Given the description of an element on the screen output the (x, y) to click on. 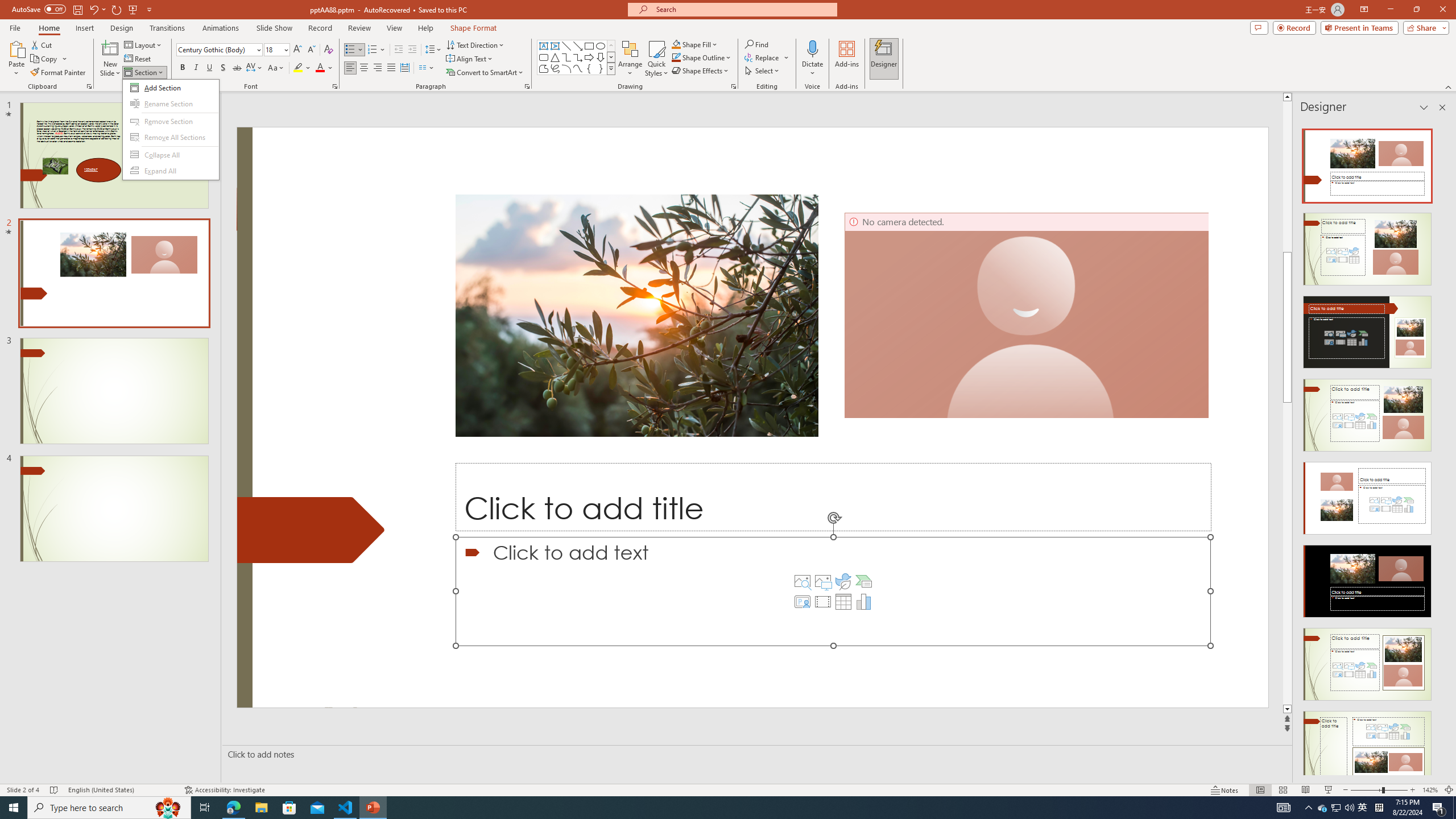
Content Placeholder (832, 591)
Insert Chart (863, 601)
